Given the description of an element on the screen output the (x, y) to click on. 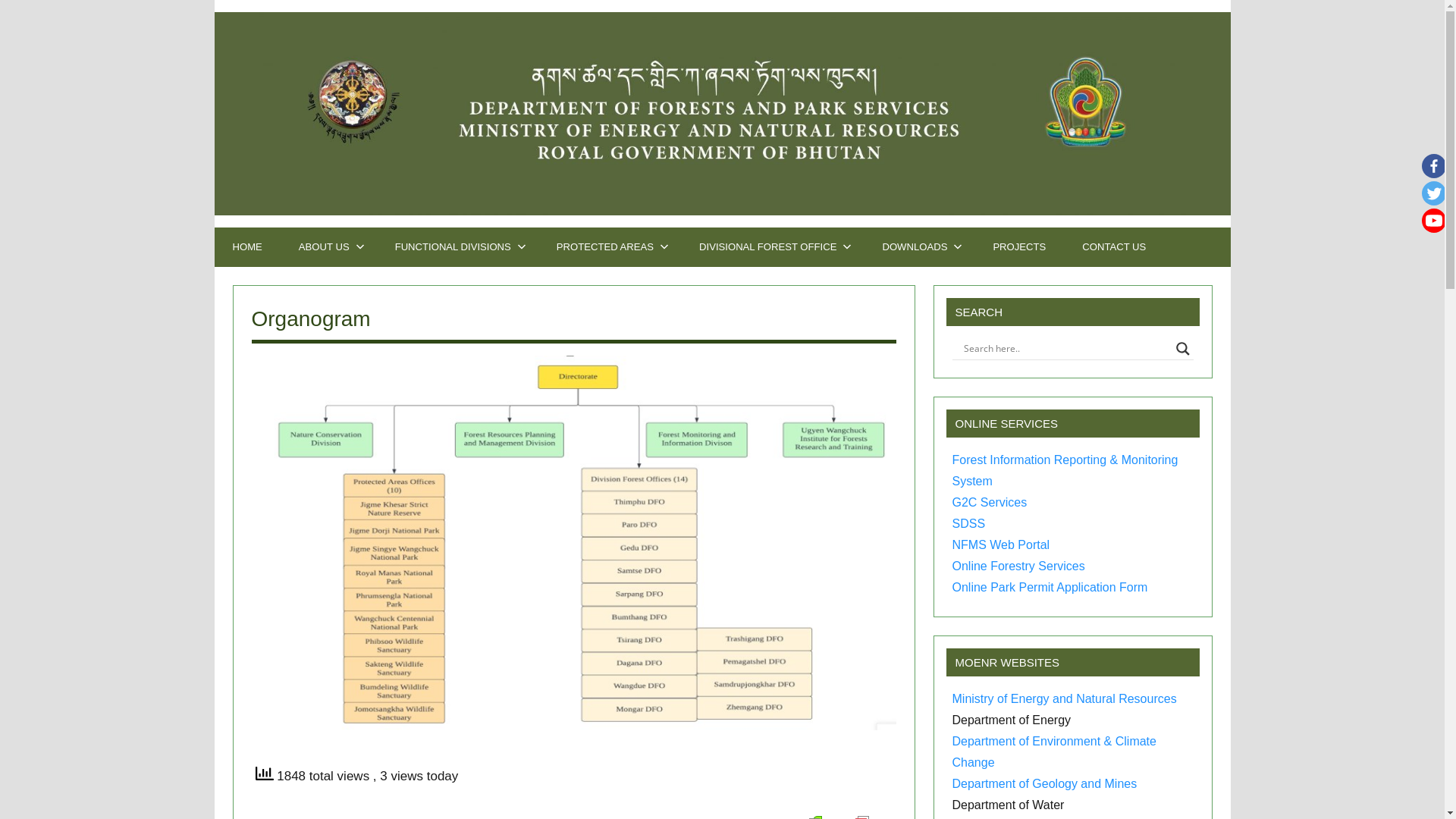
Online Forestry Services Element type: text (1018, 565)
Twitter Element type: hover (1433, 193)
ABOUT US Element type: text (328, 246)
Facebook Element type: hover (1433, 165)
NFMS Web Portal Element type: text (1001, 544)
PROJECTS Element type: text (1018, 246)
Department of Geology and Mines Element type: text (1044, 783)
DIVISIONAL FOREST OFFICE Element type: text (771, 246)
Online Park Permit Application Form Element type: text (1050, 586)
PROTECTED AREAS Element type: text (609, 246)
Youtube Element type: hover (1433, 220)
CONTACT US Element type: text (1113, 246)
SDSS Element type: text (968, 523)
Forest Information Reporting & Monitoring System Element type: text (1065, 470)
HOME Element type: text (246, 246)
FUNCTIONAL DIVISIONS Element type: text (457, 246)
Department of Environment & Climate Change Element type: text (1054, 751)
Skip to content Element type: text (213, 0)
DOWNLOADS Element type: text (918, 246)
G2C Services Element type: text (989, 501)
Ministry of Energy and Natural Resources Element type: text (1064, 698)
